Given the description of an element on the screen output the (x, y) to click on. 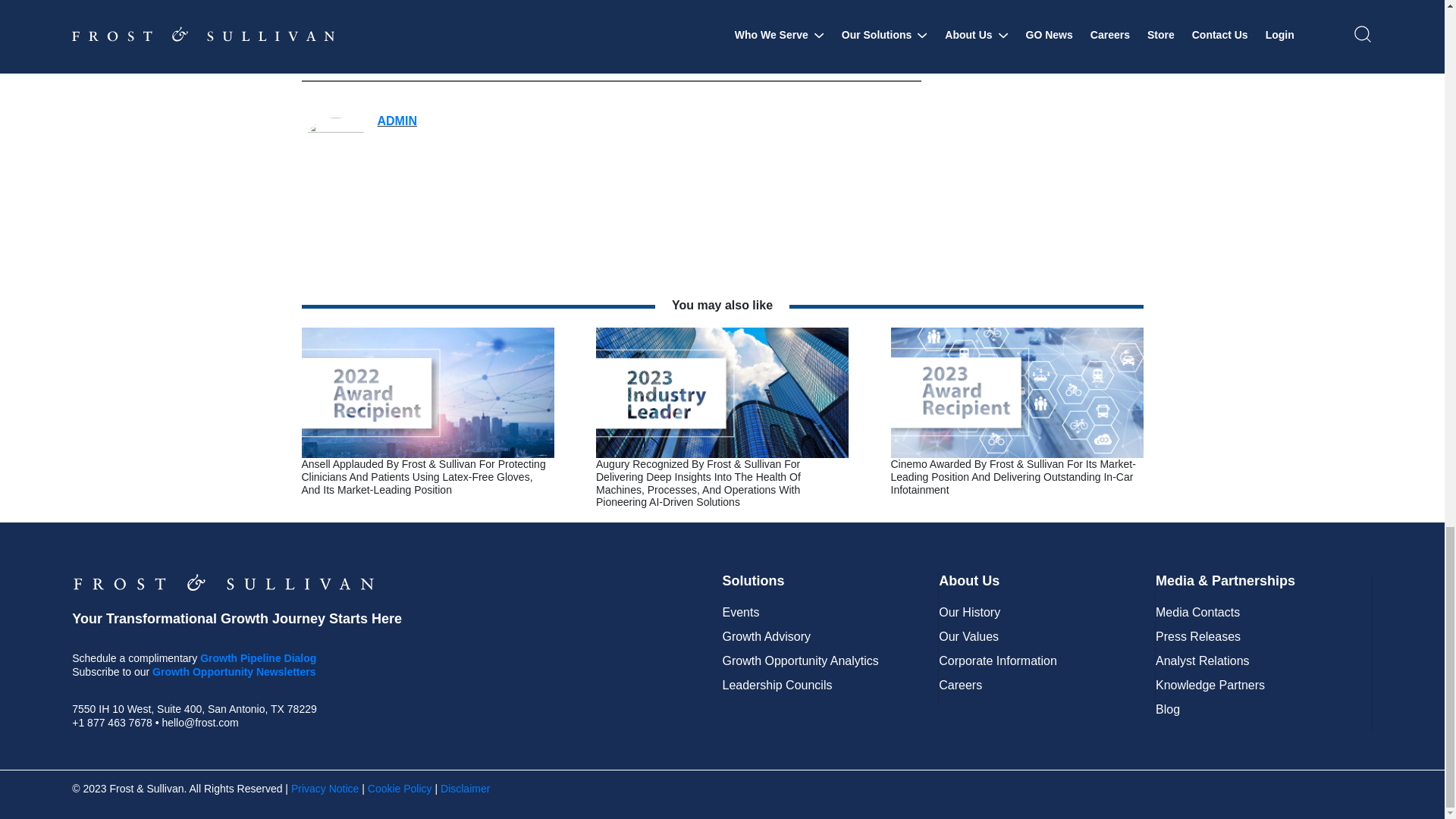
frostsullivanlogo (223, 581)
